Given the description of an element on the screen output the (x, y) to click on. 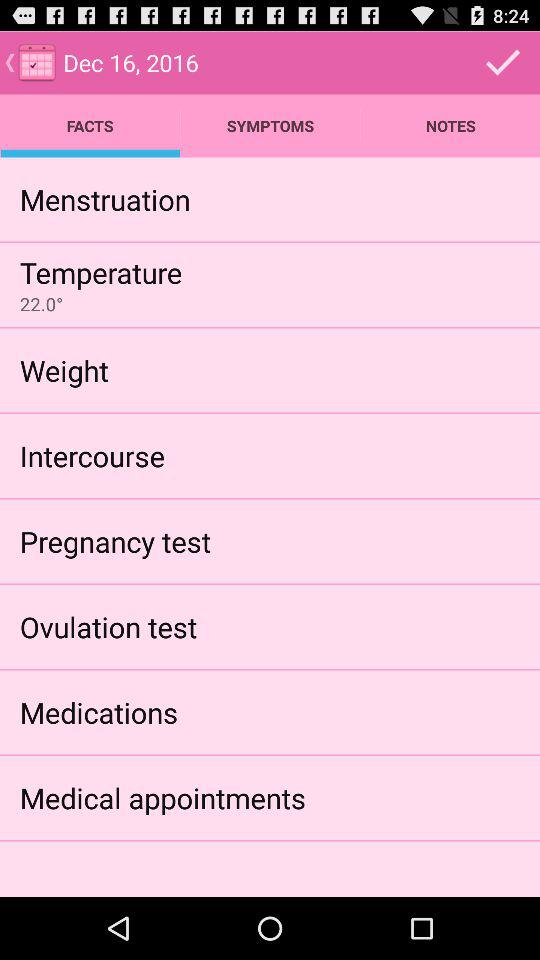
flip until pregnancy test (115, 540)
